Given the description of an element on the screen output the (x, y) to click on. 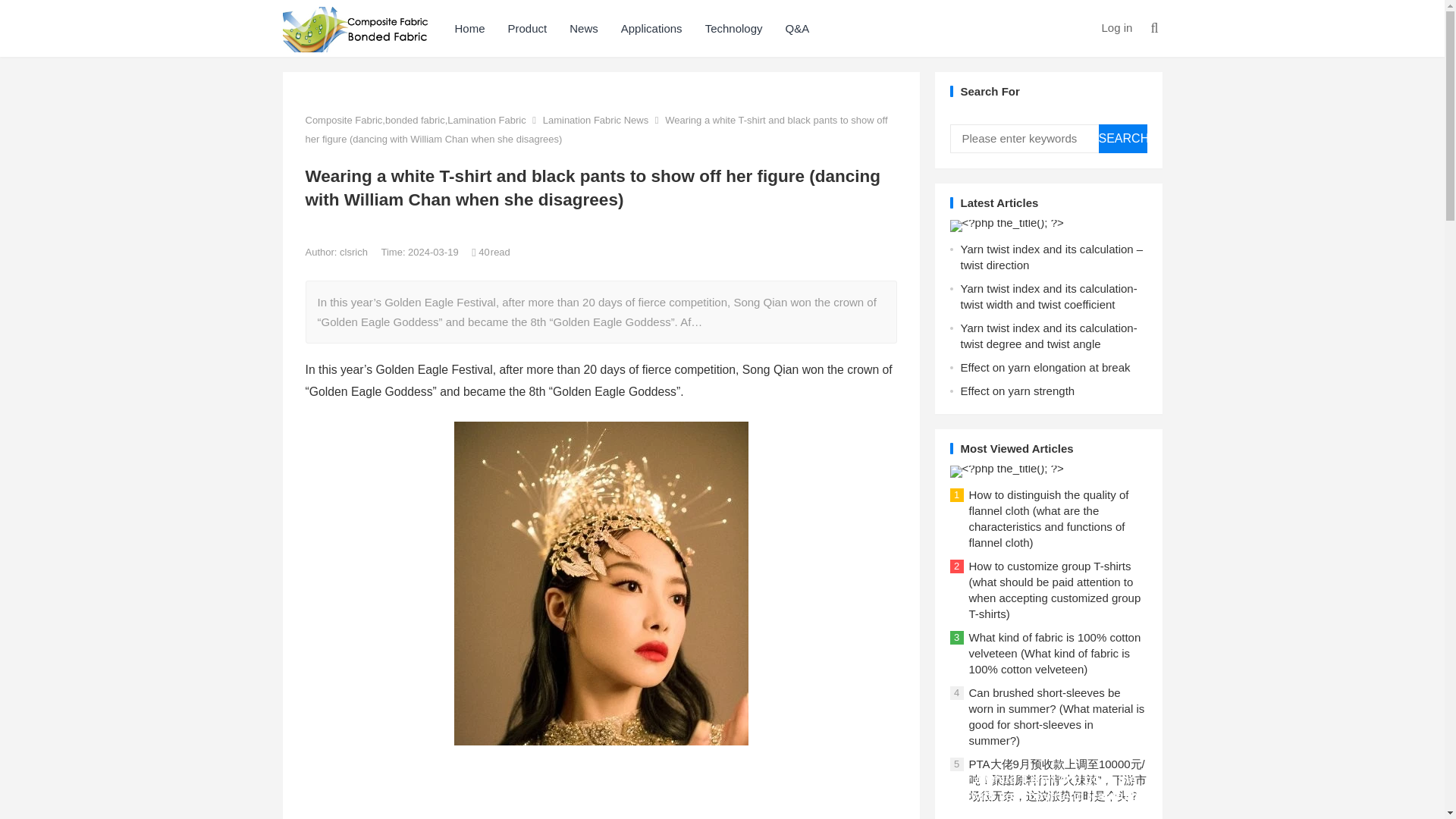
Home (469, 28)
Log in (1116, 27)
Technology (734, 28)
clsrich (354, 251)
Applications (652, 28)
News (583, 28)
Product (527, 28)
Composite Fabric,bonded fabric,Lamination Fabric (414, 119)
Lamination Fabric News (595, 119)
